Given the description of an element on the screen output the (x, y) to click on. 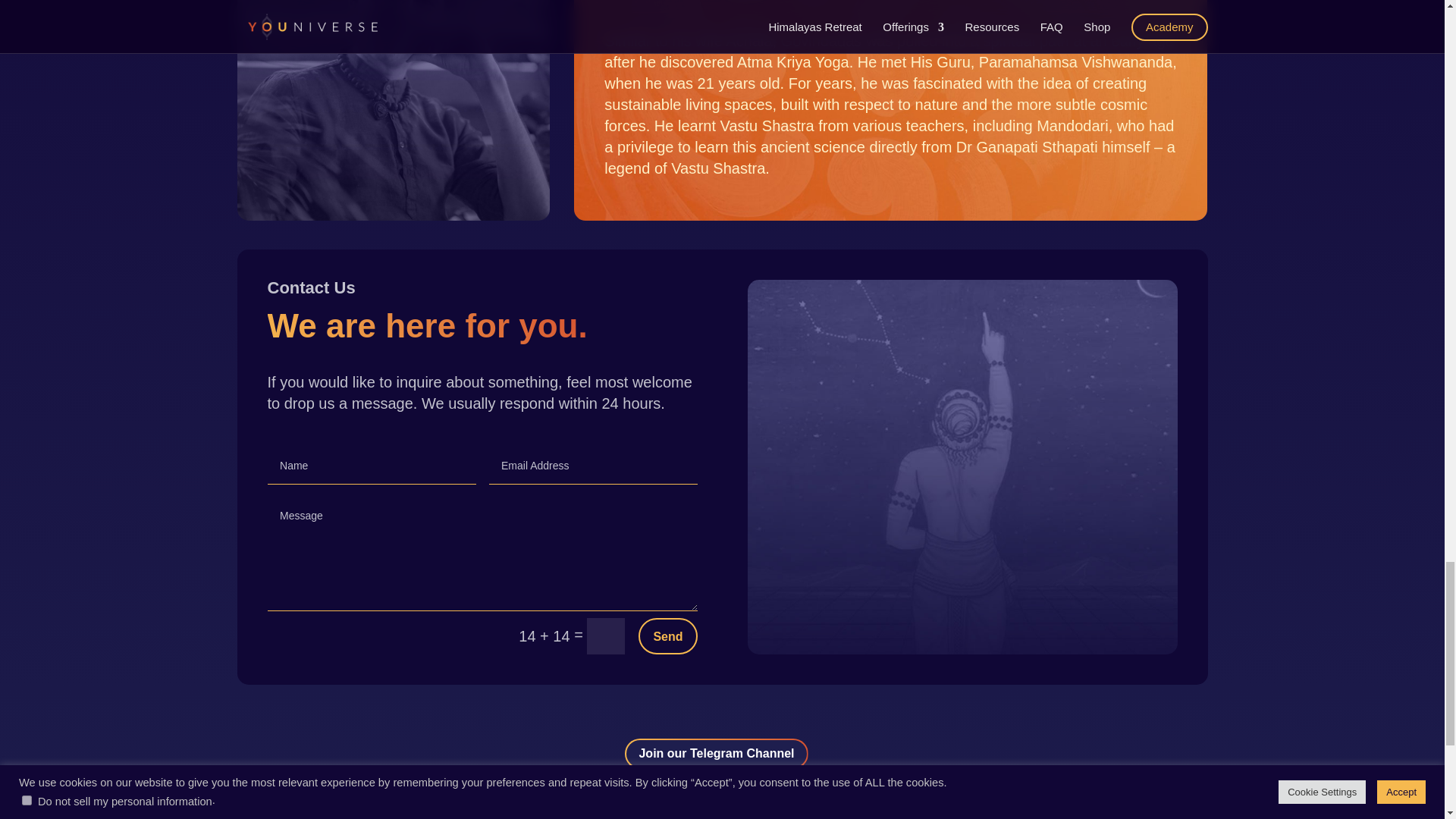
Send (668, 636)
Join our Telegram Channel (716, 753)
